Given the description of an element on the screen output the (x, y) to click on. 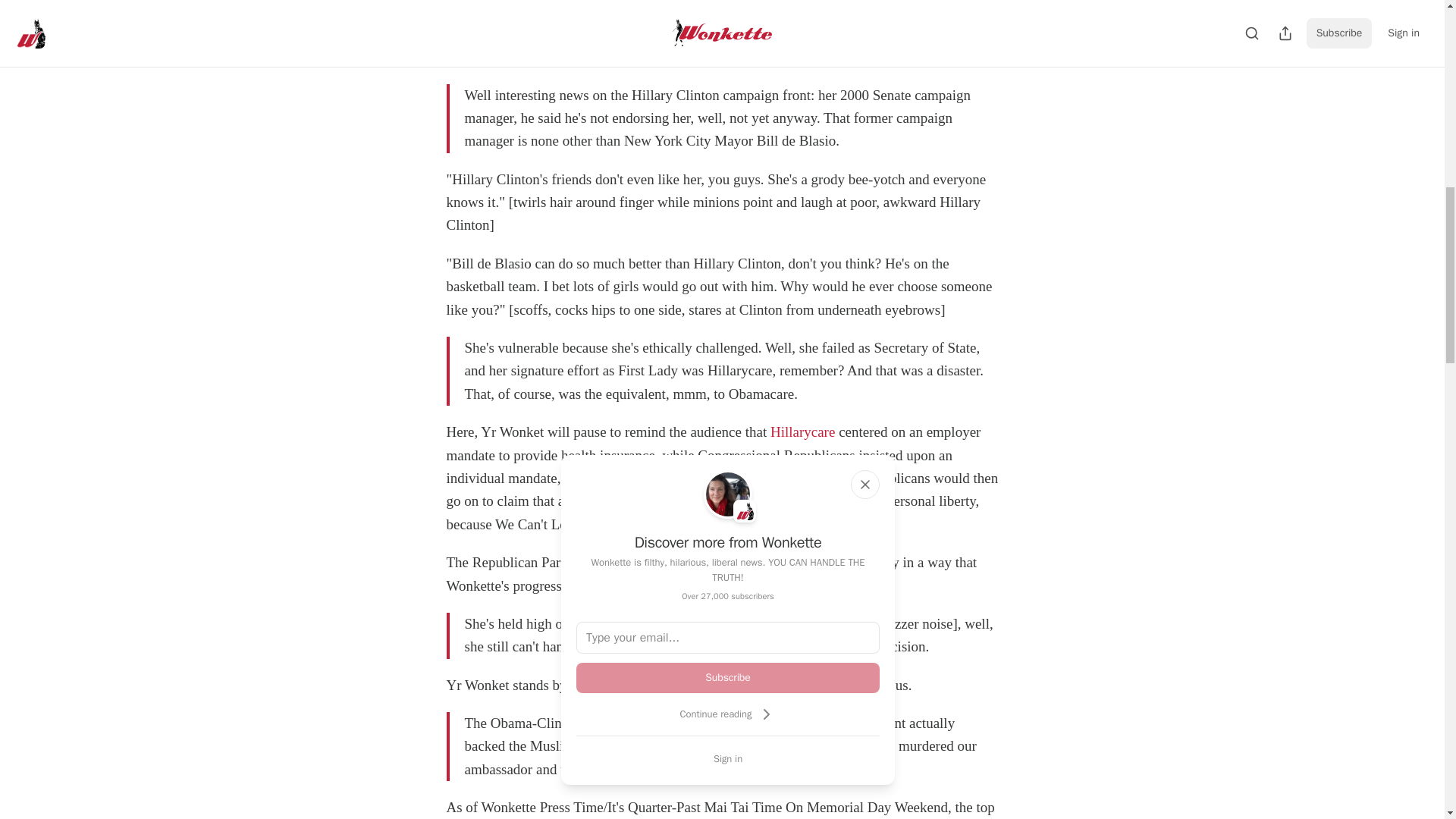
Subscribe (727, 677)
Sign in (727, 758)
Hillarycare (802, 431)
